Given the description of an element on the screen output the (x, y) to click on. 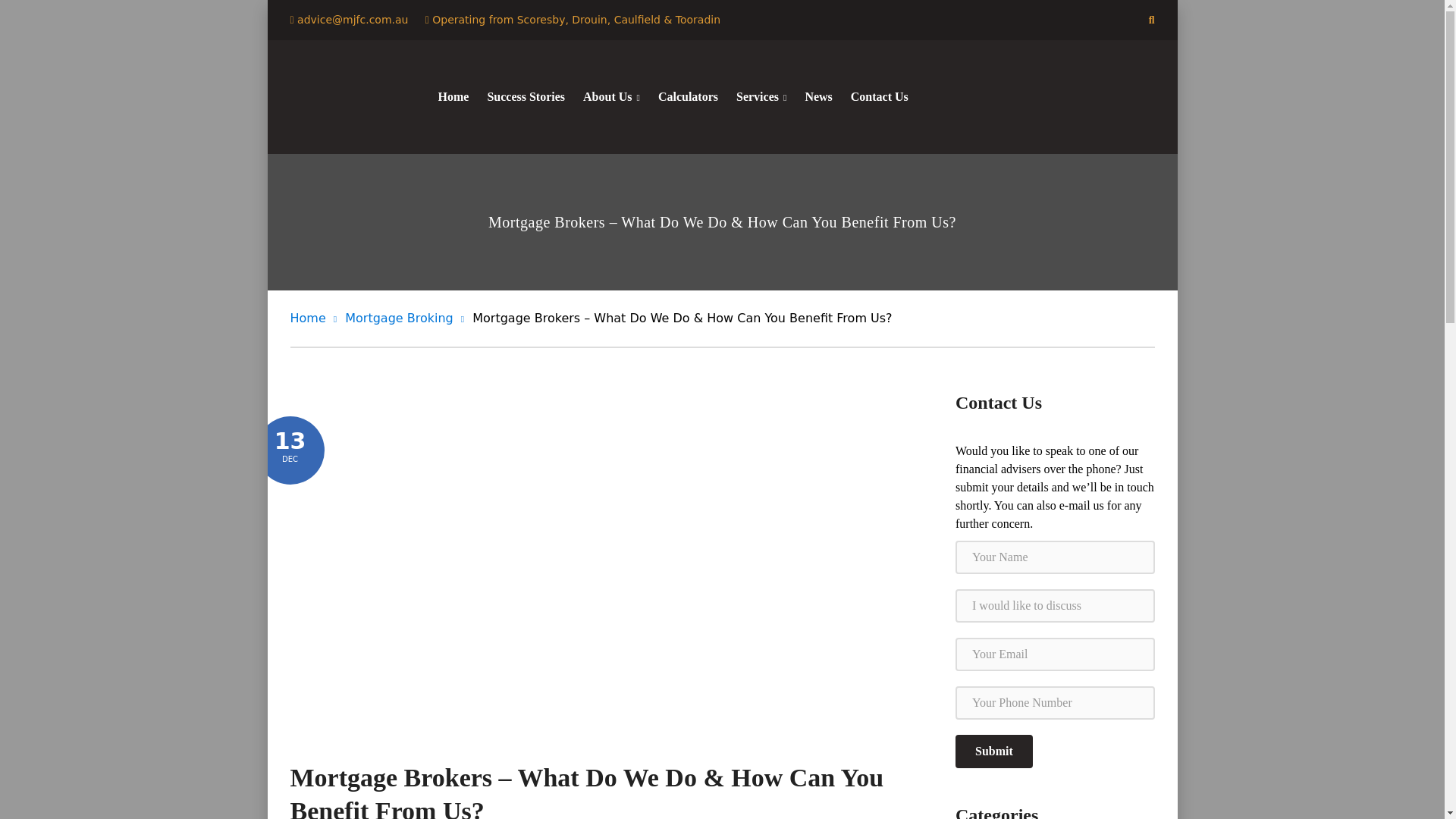
News (818, 96)
Mortgage Broking (404, 318)
Contact Us (879, 96)
About Us (611, 96)
Home (312, 318)
Home (453, 96)
Calculators (687, 96)
Success Stories (525, 96)
Services (761, 96)
